Given the description of an element on the screen output the (x, y) to click on. 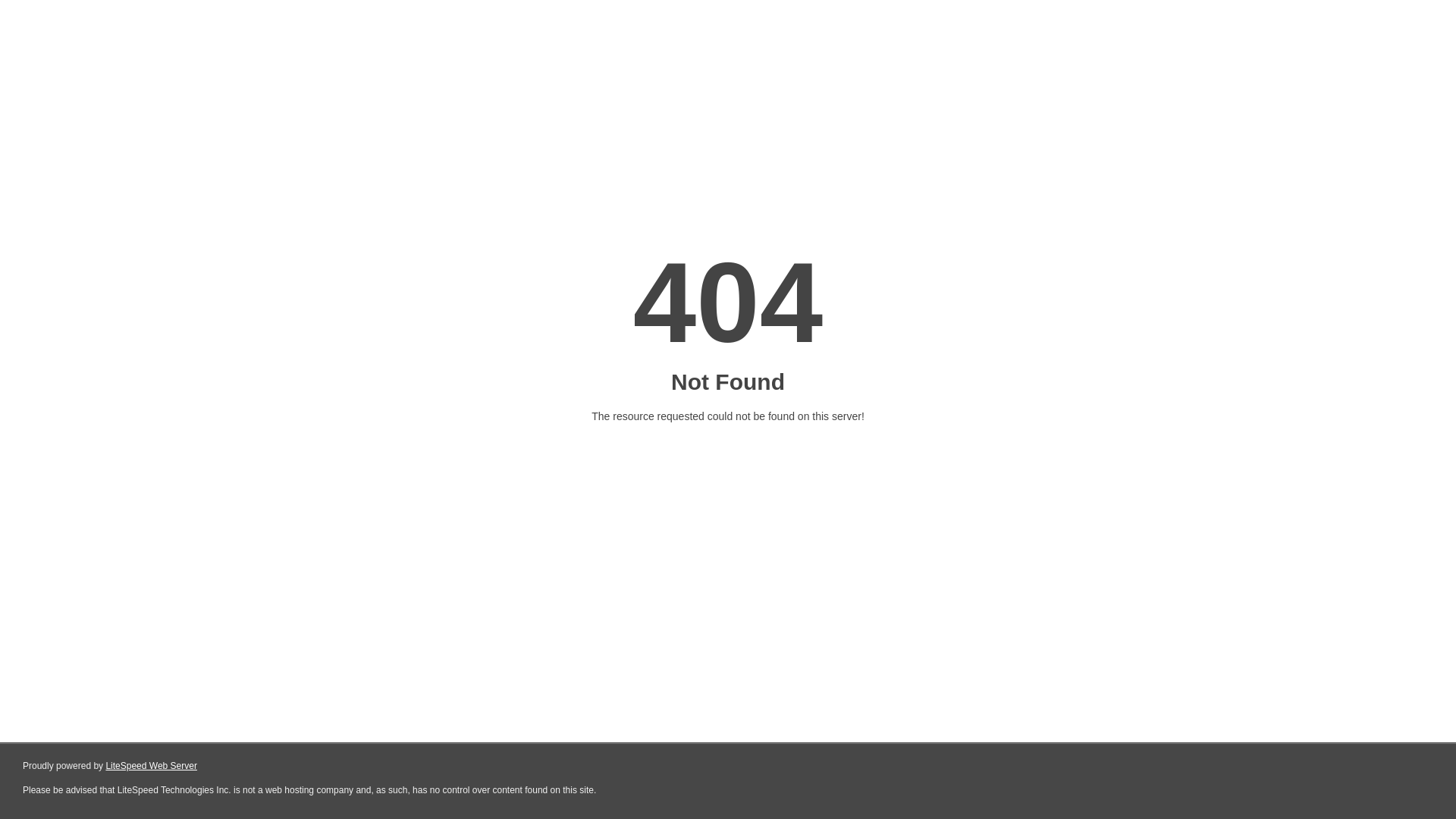
LiteSpeed Web Server Element type: text (151, 765)
